Given the description of an element on the screen output the (x, y) to click on. 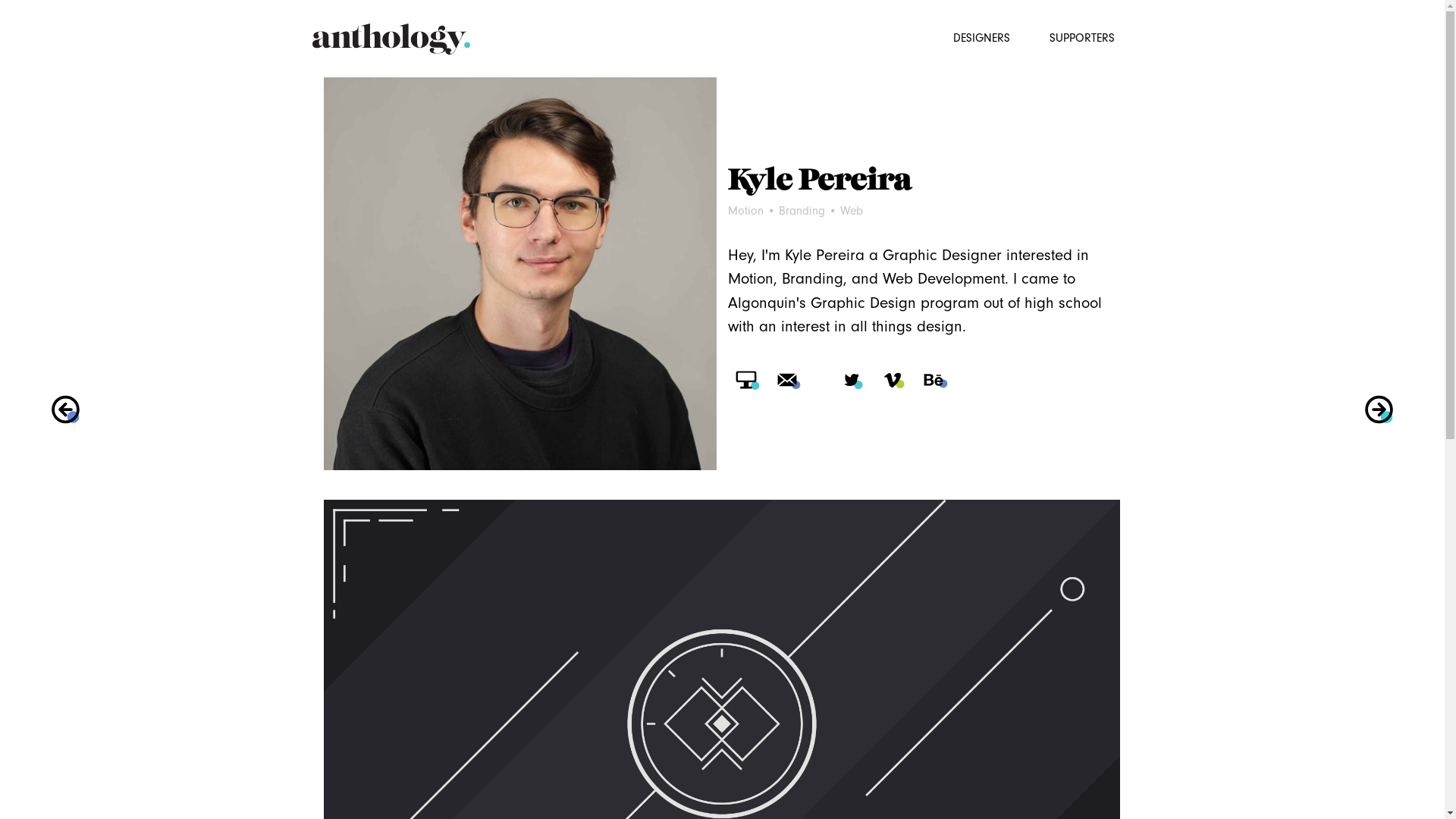
DESIGNERS Element type: text (981, 35)
Email Element type: text (786, 379)
SUPPORTERS Element type: text (1081, 35)
Anthology. Element type: text (391, 40)
Portfolio Website Element type: text (746, 379)
Behance Element type: text (933, 379)
Vimeo Element type: text (892, 379)
Twitter Element type: text (851, 379)
